Given the description of an element on the screen output the (x, y) to click on. 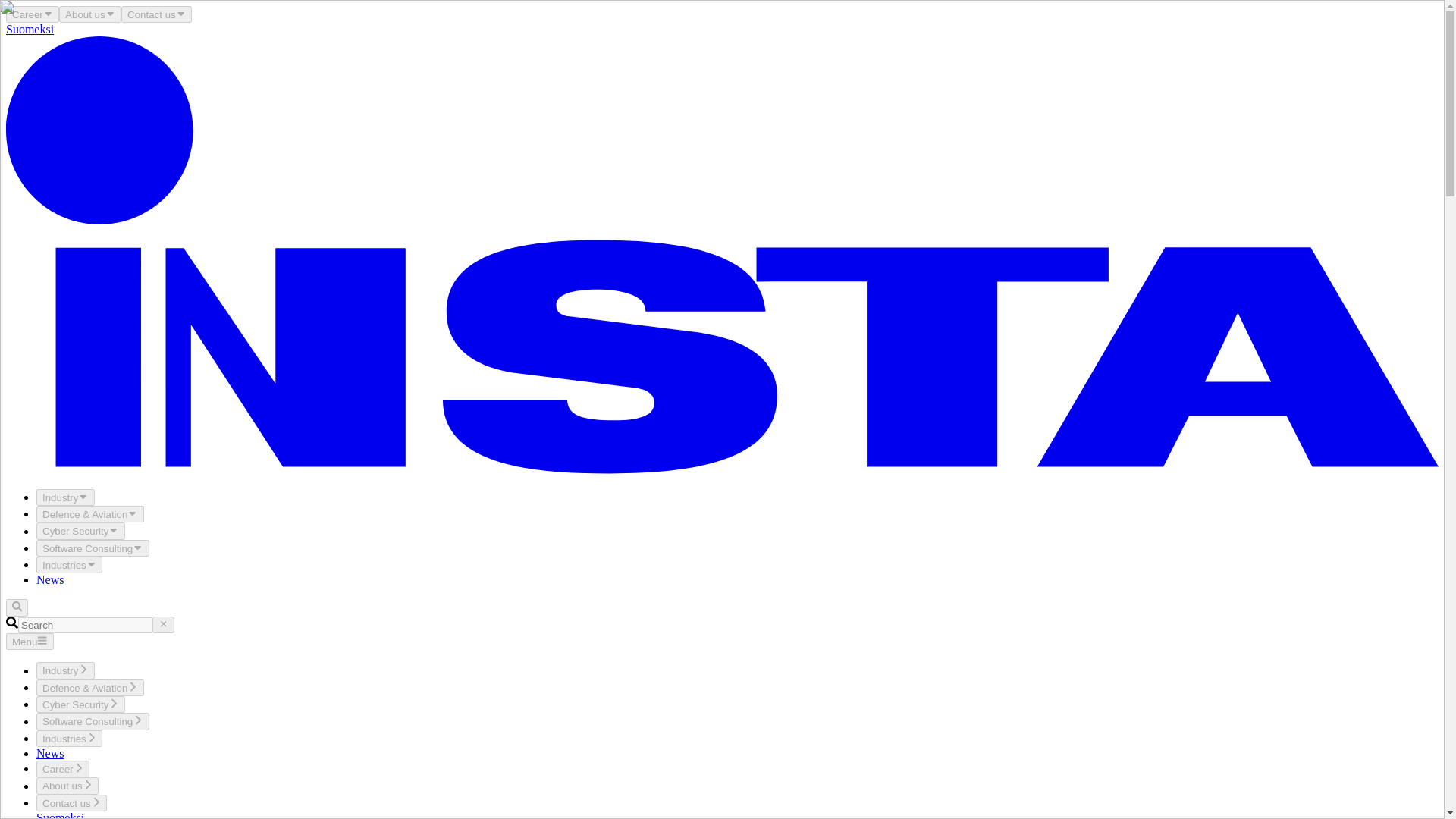
Industries (68, 564)
Software Consulting (92, 547)
Career (32, 13)
Suomeksi (29, 29)
News (50, 579)
Career (62, 768)
Industry (65, 669)
About us (67, 785)
Contact us (71, 802)
Menu (29, 641)
Software Consulting (92, 720)
Cyber Security (80, 704)
Contact us (156, 13)
Suomeksi (60, 815)
About us (89, 13)
